Given the description of an element on the screen output the (x, y) to click on. 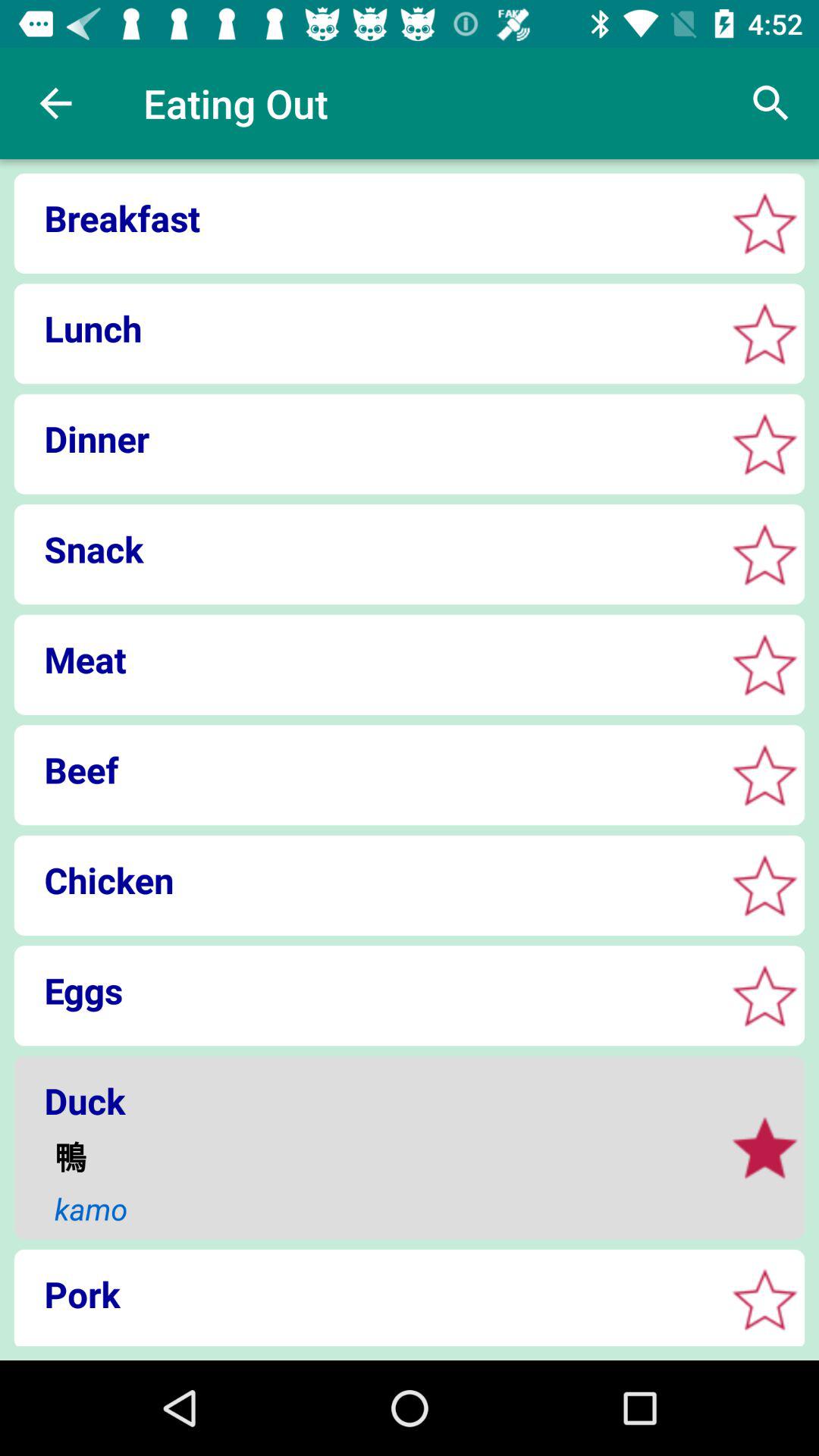
order it (764, 1147)
